Given the description of an element on the screen output the (x, y) to click on. 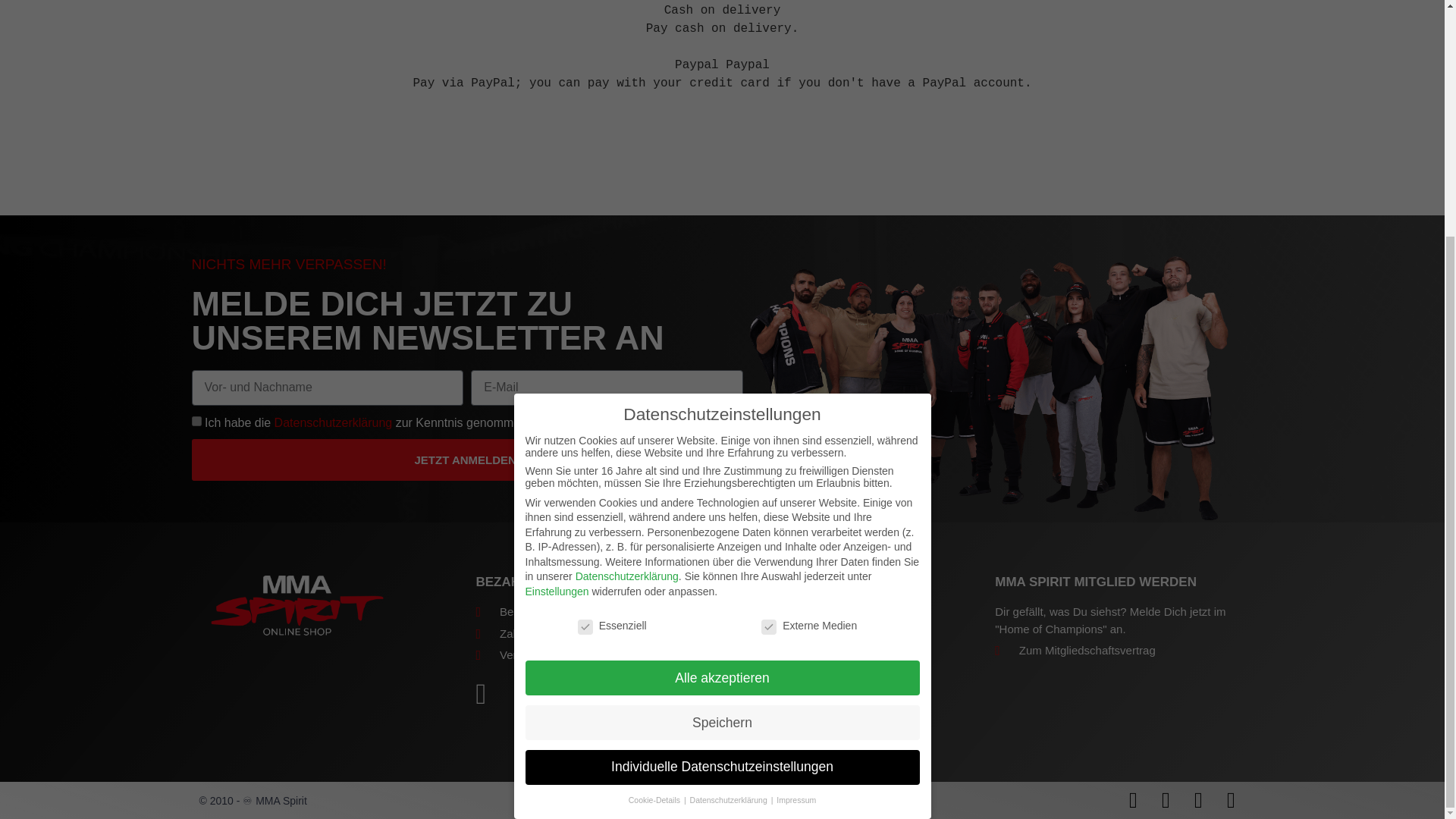
on (195, 420)
